Given the description of an element on the screen output the (x, y) to click on. 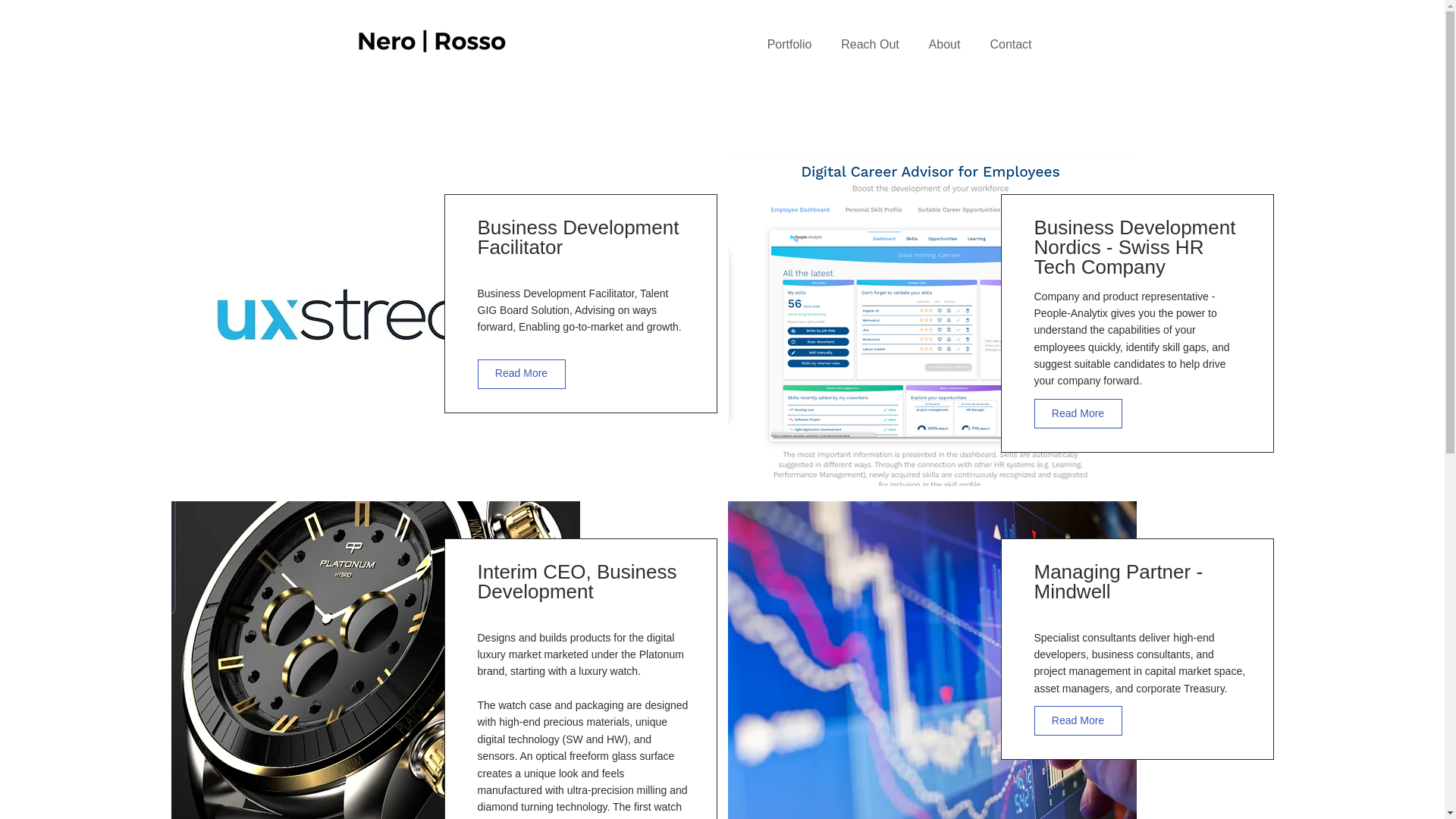
Stock Market Graph.jpg (932, 659)
Contact (1010, 43)
Read More (521, 374)
About (944, 43)
Portfolio (788, 43)
Read More (1077, 720)
12fd14af-6bdf-4da3-86f9-3bede020c5aa.JPG (375, 659)
Read More (1077, 413)
Reach Out (870, 43)
